Given the description of an element on the screen output the (x, y) to click on. 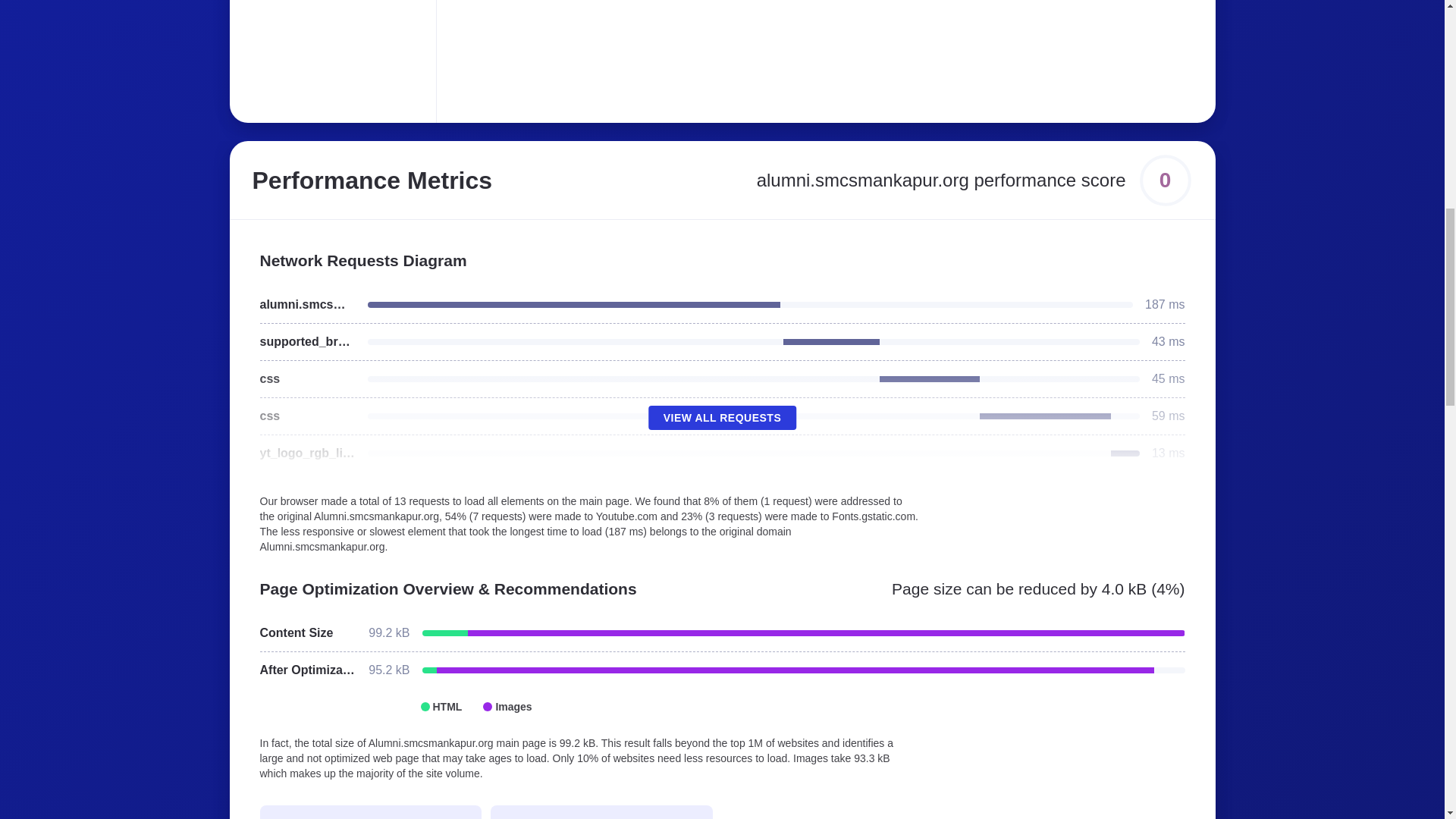
VIEW ALL REQUESTS (721, 417)
